Given the description of an element on the screen output the (x, y) to click on. 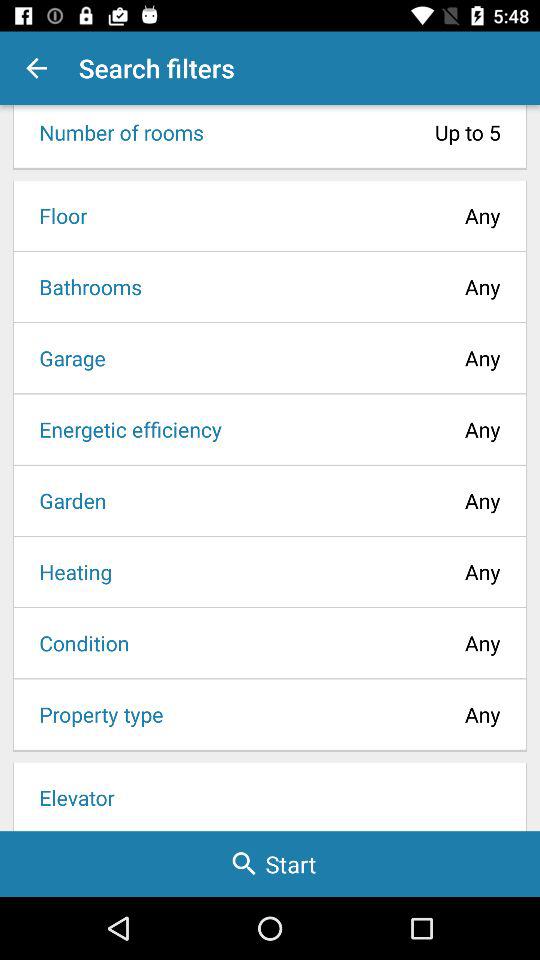
open the item below search filters icon (358, 132)
